Given the description of an element on the screen output the (x, y) to click on. 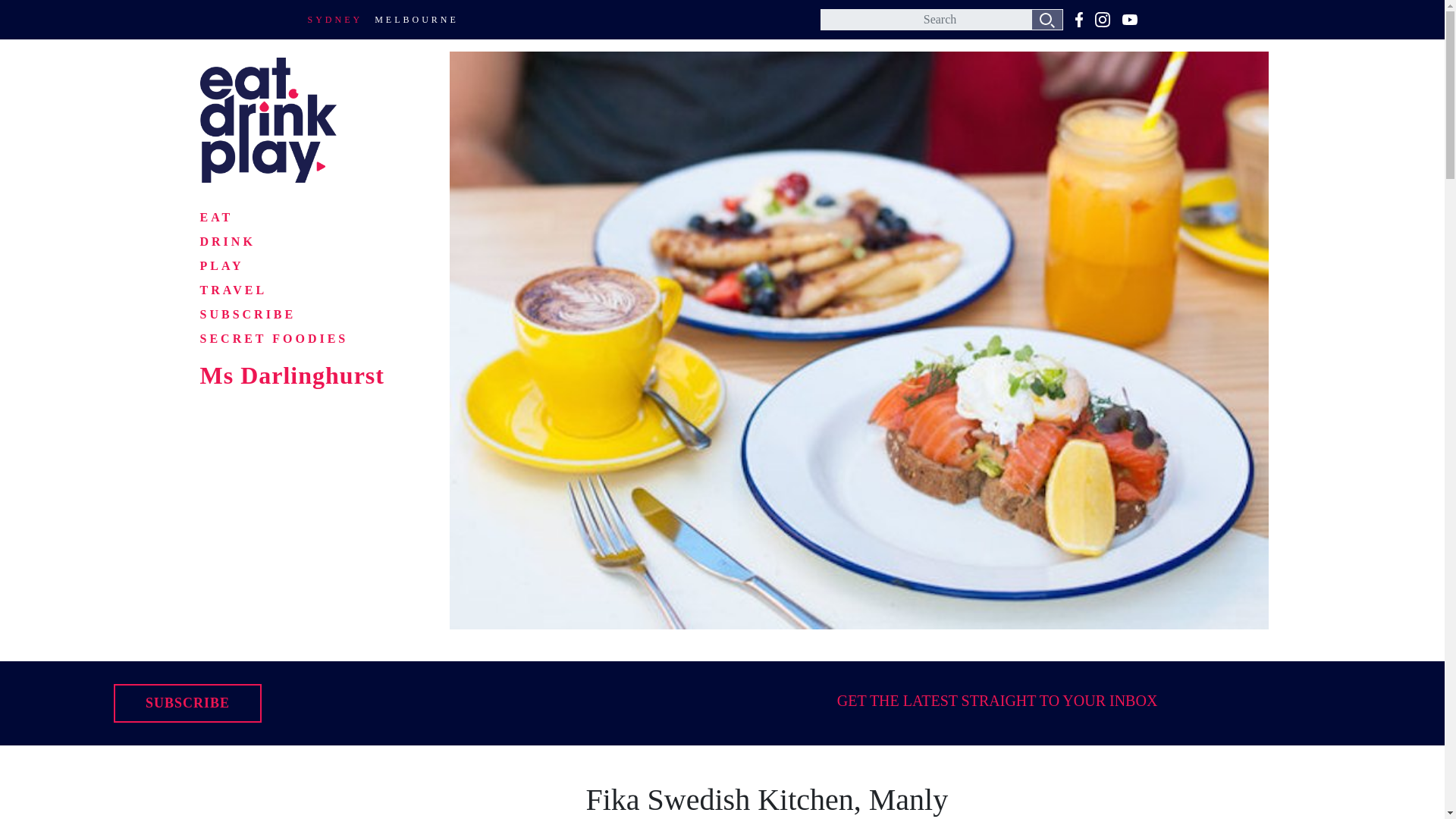
SECRET FOODIES (274, 338)
DRINK (228, 241)
SYDNEY (335, 19)
EAT (216, 216)
SUBSCRIBE (187, 702)
Search for: (941, 19)
TRAVEL (233, 289)
SUBSCRIBE (248, 314)
PLAY (222, 265)
Ms Darlinghurst (295, 375)
MELBOURNE (416, 19)
